Given the description of an element on the screen output the (x, y) to click on. 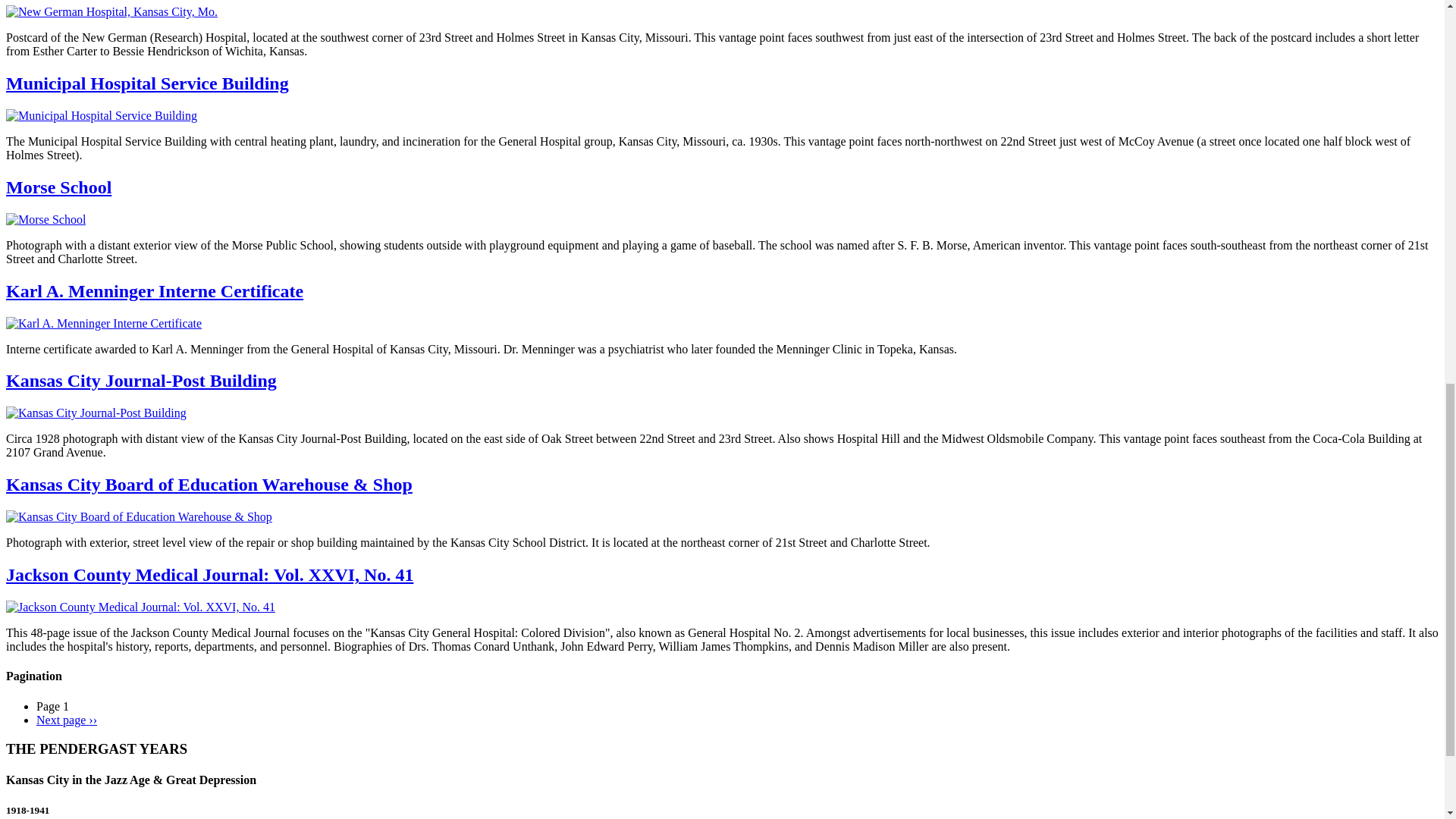
Jackson County Medical Journal: Vol. XXVI, No. 41 (209, 574)
Go to next page (66, 718)
Municipal Hospital Service Building (146, 83)
Kansas City Journal-Post Building (140, 380)
Morse School (58, 187)
Karl A. Menninger Interne Certificate (153, 291)
